Given the description of an element on the screen output the (x, y) to click on. 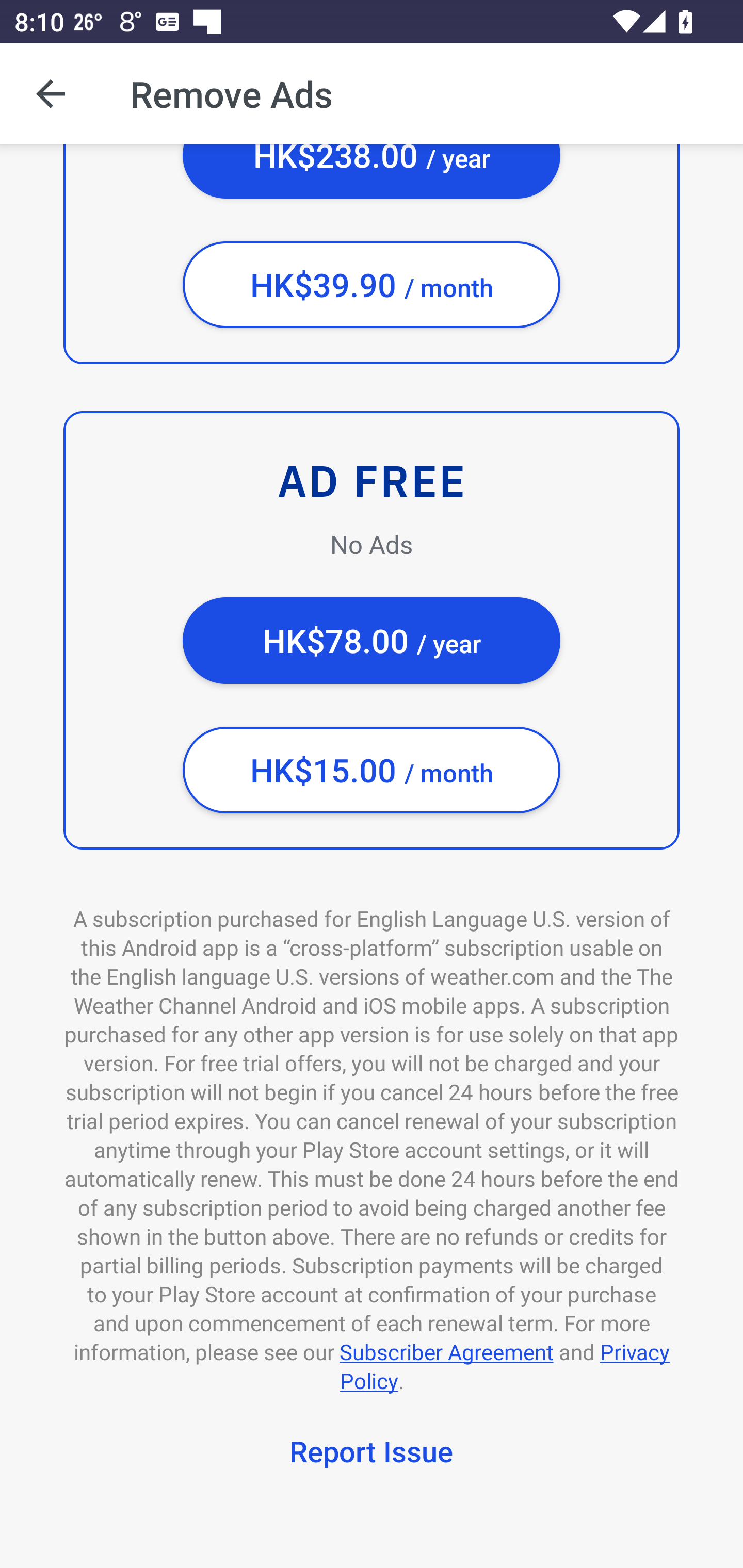
Navigate up (50, 93)
HK$238.00 / year (371, 171)
HK$39.90 / month (371, 284)
HK$78.00 / year (371, 640)
HK$15.00 / month (371, 769)
Report Issue (371, 1454)
